Given the description of an element on the screen output the (x, y) to click on. 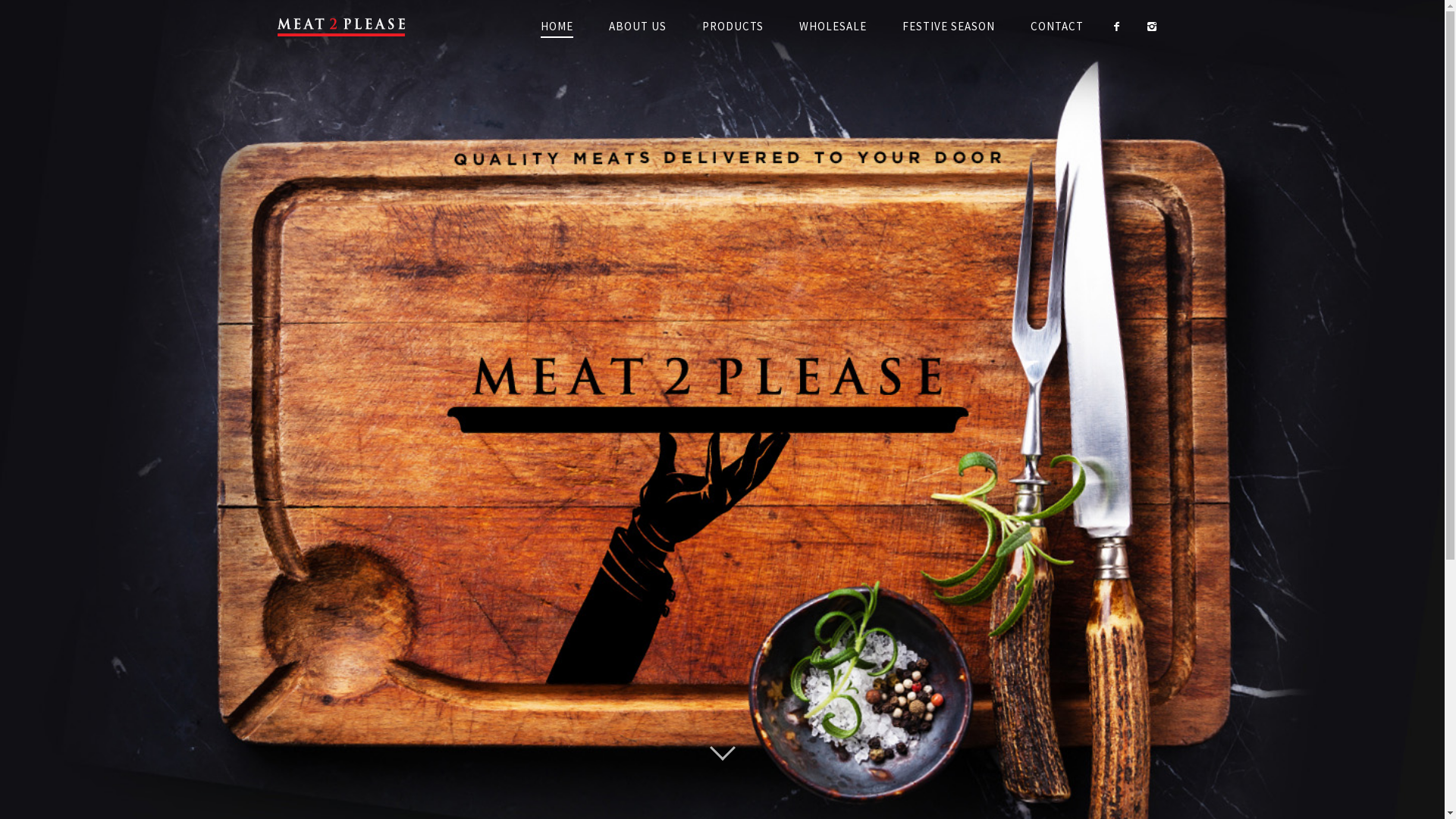
CONTACT Element type: text (1056, 26)
Meat 2 Please Element type: hover (351, 27)
WHOLESALE Element type: text (832, 26)
HOME Element type: text (556, 27)
FESTIVE SEASON Element type: text (948, 26)
PRODUCTS Element type: text (732, 26)
ABOUT US Element type: text (637, 26)
